Given the description of an element on the screen output the (x, y) to click on. 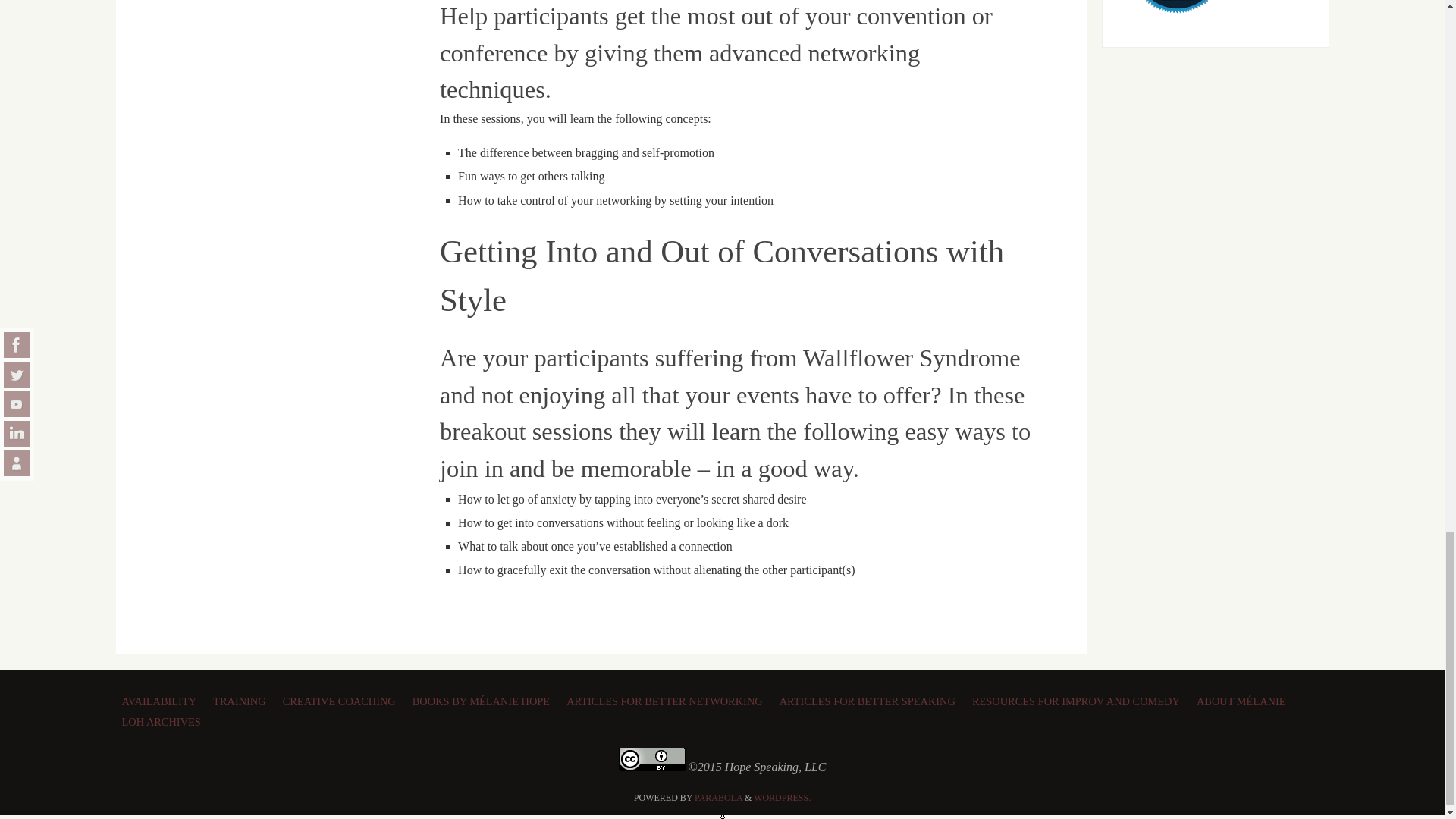
CREATIVE COACHING (341, 699)
ARTICLES FOR BETTER SPEAKING (869, 699)
WORDPRESS. (782, 797)
LOH ARCHIVES (162, 719)
RESOURCES FOR IMPROV AND COMEDY (1078, 699)
Parabola Theme by Cryout Creations (718, 797)
ARTICLES FOR BETTER NETWORKING (667, 699)
TRAINING (241, 699)
Semantic Personal Publishing Platform (782, 797)
PARABOLA (718, 797)
AVAILABILITY (161, 699)
